Given the description of an element on the screen output the (x, y) to click on. 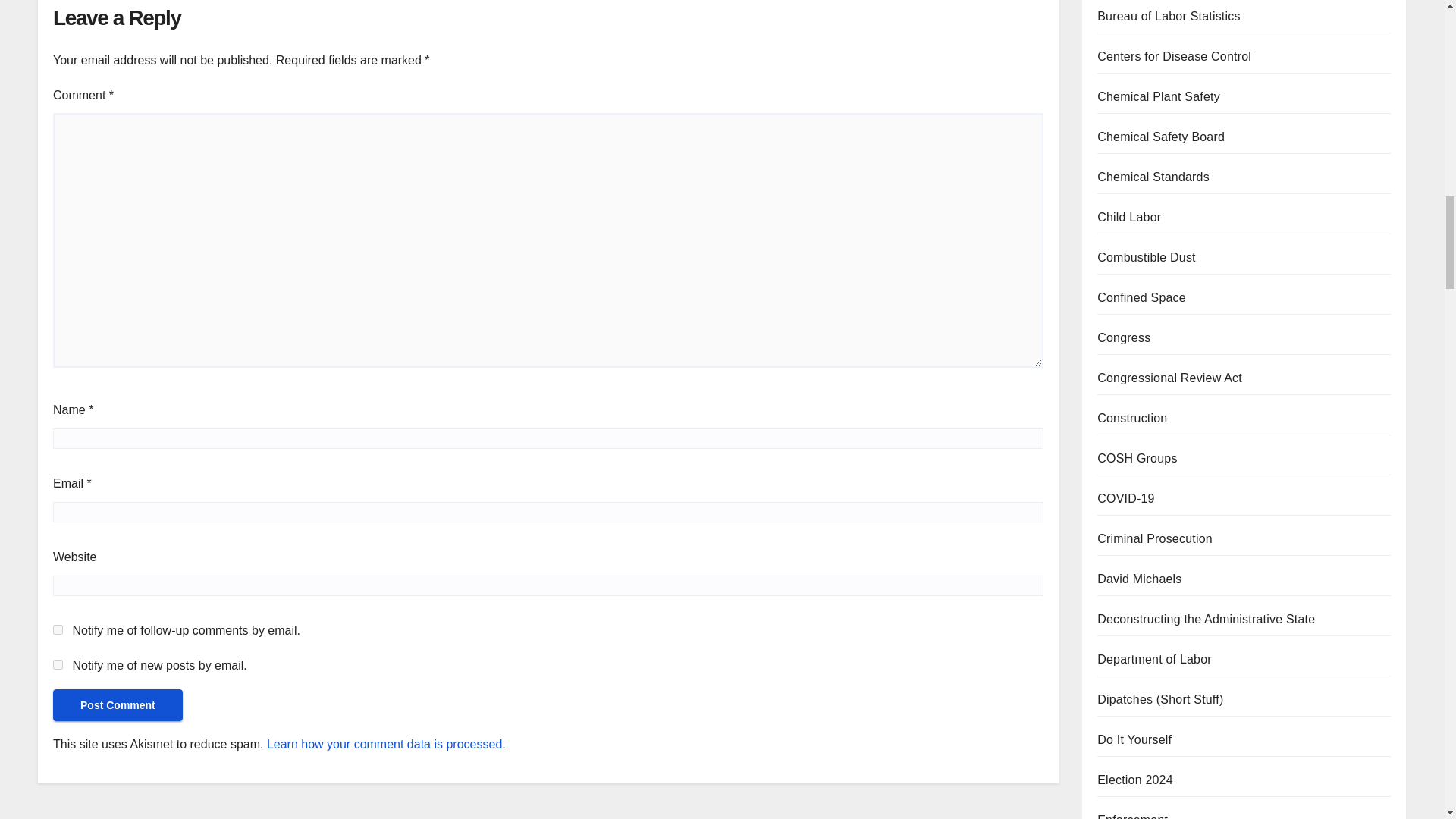
Post Comment (117, 705)
subscribe (57, 664)
subscribe (57, 629)
